Given the description of an element on the screen output the (x, y) to click on. 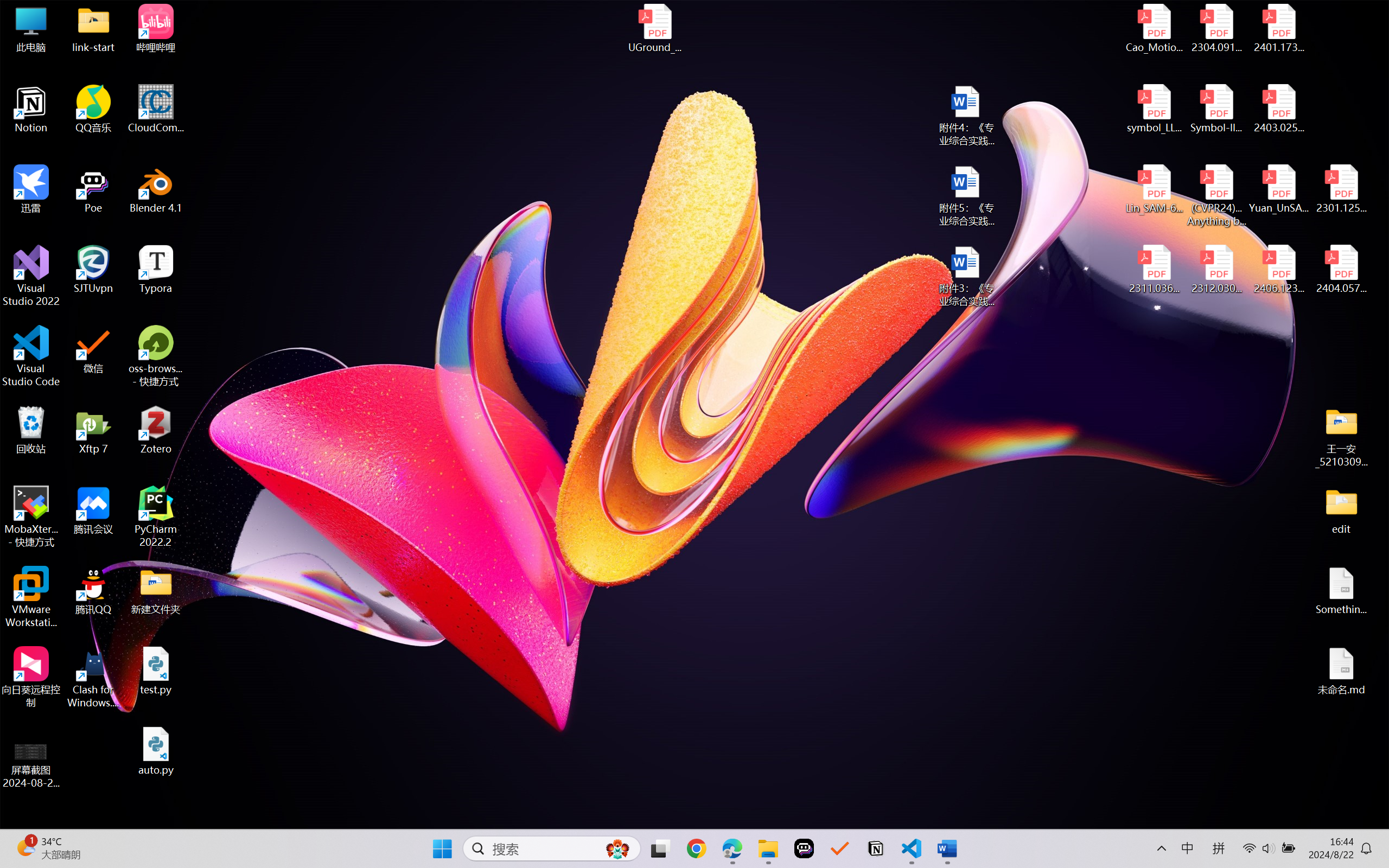
test.py (156, 670)
Visual Studio Code (31, 355)
Xftp 7 (93, 430)
Google Chrome (696, 848)
